Given the description of an element on the screen output the (x, y) to click on. 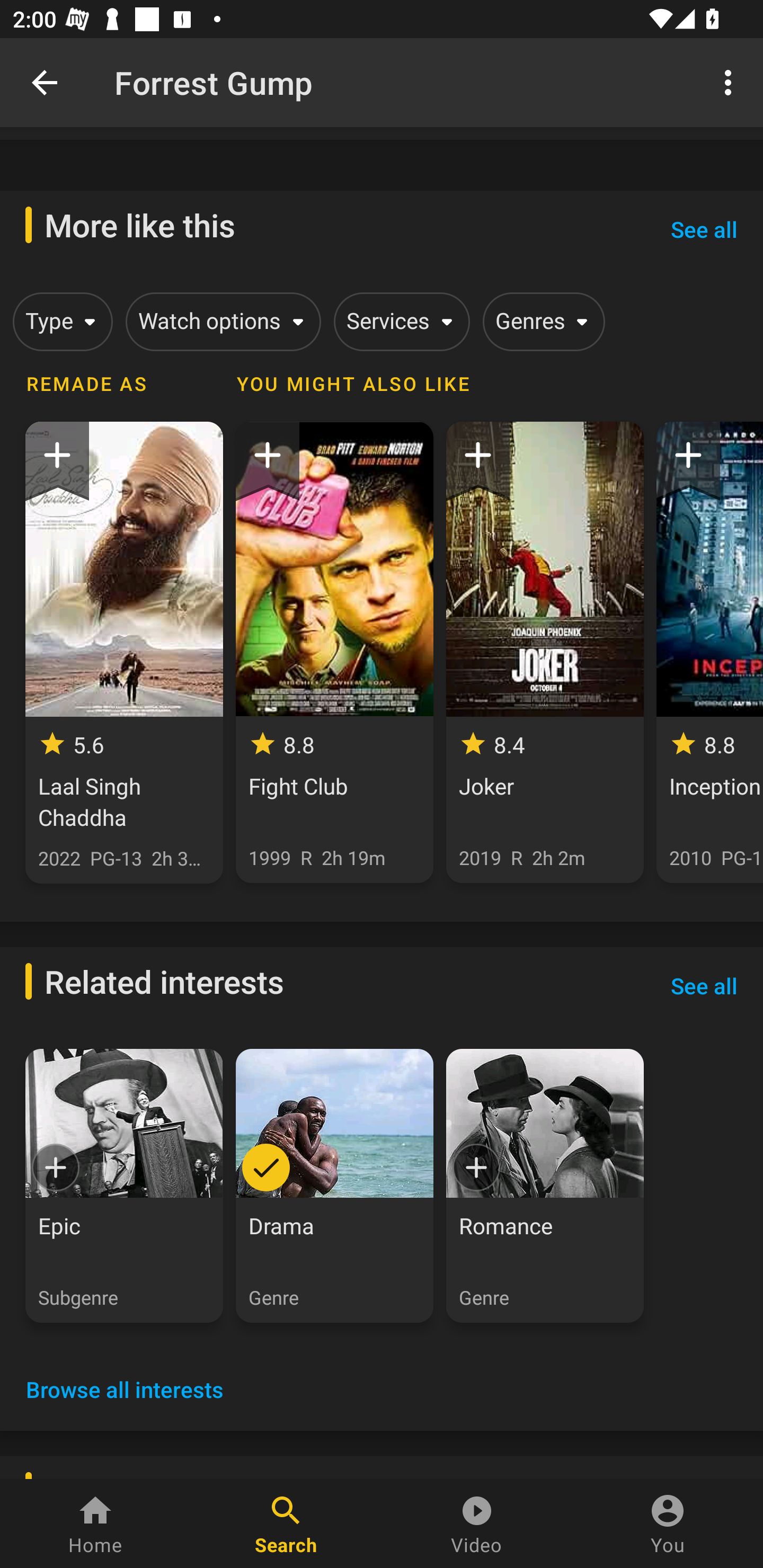
More options (731, 81)
See all See all More like this (703, 229)
Type (59, 321)
Watch options (219, 321)
Services (398, 321)
Genres (540, 321)
5.6 Laal Singh Chaddha 2022  PG-13  2h 39m (123, 652)
8.8 Fight Club 1999  R  2h 19m (334, 651)
8.4 Joker 2019  R  2h 2m (544, 651)
See all See all Related interests (703, 985)
Epic Subgenre (123, 1185)
Drama Genre (334, 1185)
Romance Genre (544, 1185)
Browse all interests (124, 1389)
Home (95, 1523)
Video (476, 1523)
You (667, 1523)
